Given the description of an element on the screen output the (x, y) to click on. 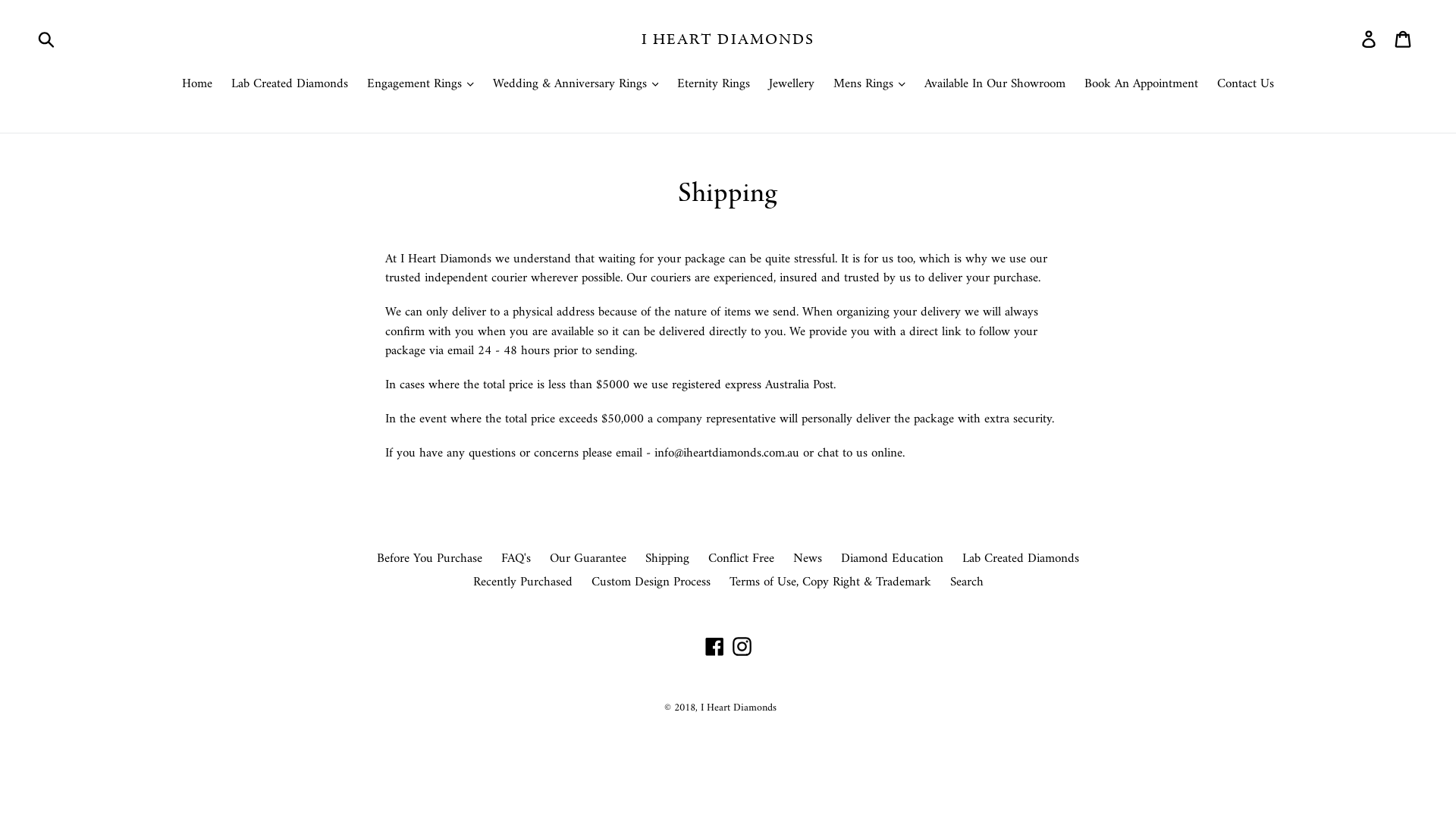
Home Element type: text (196, 86)
Shipping Element type: text (667, 558)
Jewellery Element type: text (791, 86)
Diamond Education Element type: text (891, 558)
Instagram Element type: text (741, 646)
Facebook Element type: text (713, 646)
Custom Design Process Element type: text (650, 582)
Our Guarantee Element type: text (587, 558)
Submit Element type: text (46, 39)
Available In Our Showroom Element type: text (994, 86)
Recently Purchased Element type: text (522, 582)
Terms of Use, Copy Right & Trademark Element type: text (830, 582)
Contact Us Element type: text (1245, 86)
I Heart Diamonds Element type: text (738, 707)
Conflict Free Element type: text (741, 558)
Lab Created Diamonds Element type: text (1020, 558)
I HEART DIAMONDS Element type: text (728, 38)
Book An Appointment Element type: text (1140, 86)
Before You Purchase Element type: text (429, 558)
Eternity Rings Element type: text (713, 86)
Lab Created Diamonds Element type: text (289, 86)
Log in Element type: text (1369, 38)
Search Element type: text (965, 582)
Cart Element type: text (1403, 38)
News Element type: text (807, 558)
FAQ's Element type: text (515, 558)
